Given the description of an element on the screen output the (x, y) to click on. 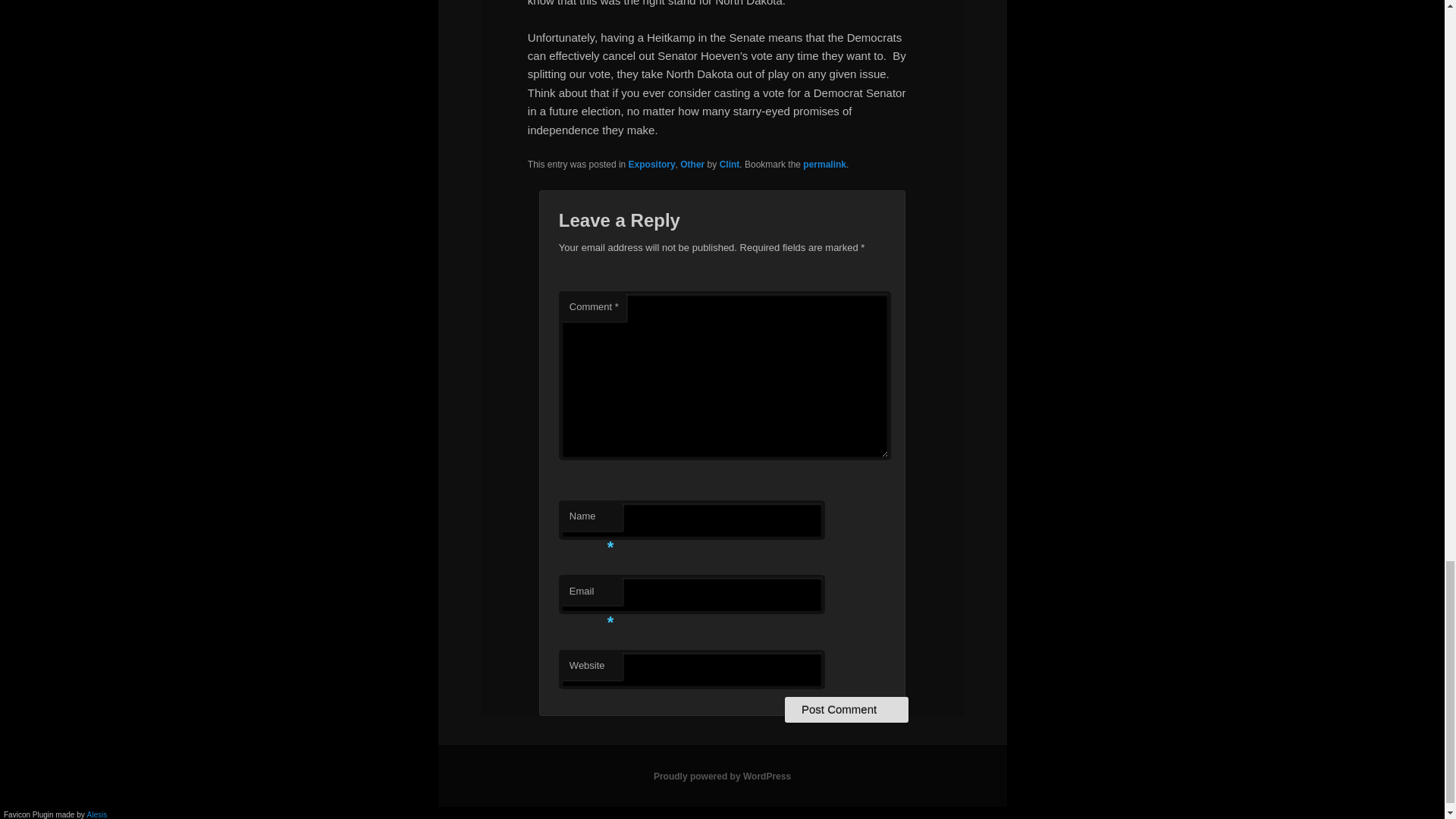
Other (691, 163)
Post Comment (846, 709)
Semantic Personal Publishing Platform (721, 776)
Expository (651, 163)
permalink (824, 163)
Clint (729, 163)
Proudly powered by WordPress (721, 776)
Post Comment (846, 709)
